Given the description of an element on the screen output the (x, y) to click on. 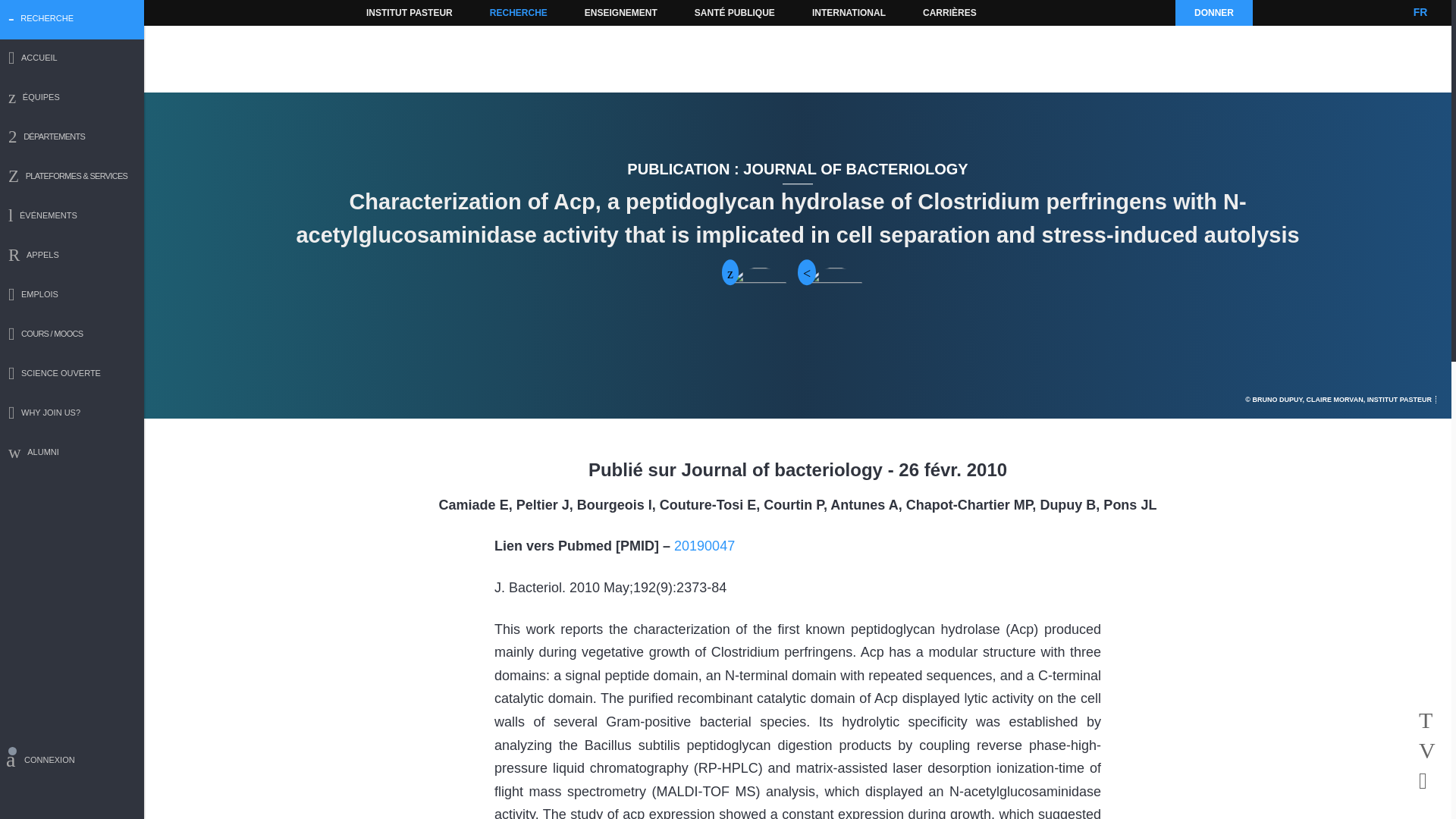
SCIENCE OUVERTE (72, 374)
WHY JOIN US? (72, 413)
20190047 (704, 545)
Aller au contenu (391, 11)
INSTITUT PASTEUR (409, 12)
ACCUEIL (72, 59)
DONNER (1213, 12)
CONNEXION (72, 762)
EMPLOIS (72, 296)
Aller au contenu (391, 11)
RECHERCHE (518, 12)
APPELS (72, 256)
INTERNATIONAL (848, 12)
FR (1419, 11)
ALUMNI (72, 454)
